Given the description of an element on the screen output the (x, y) to click on. 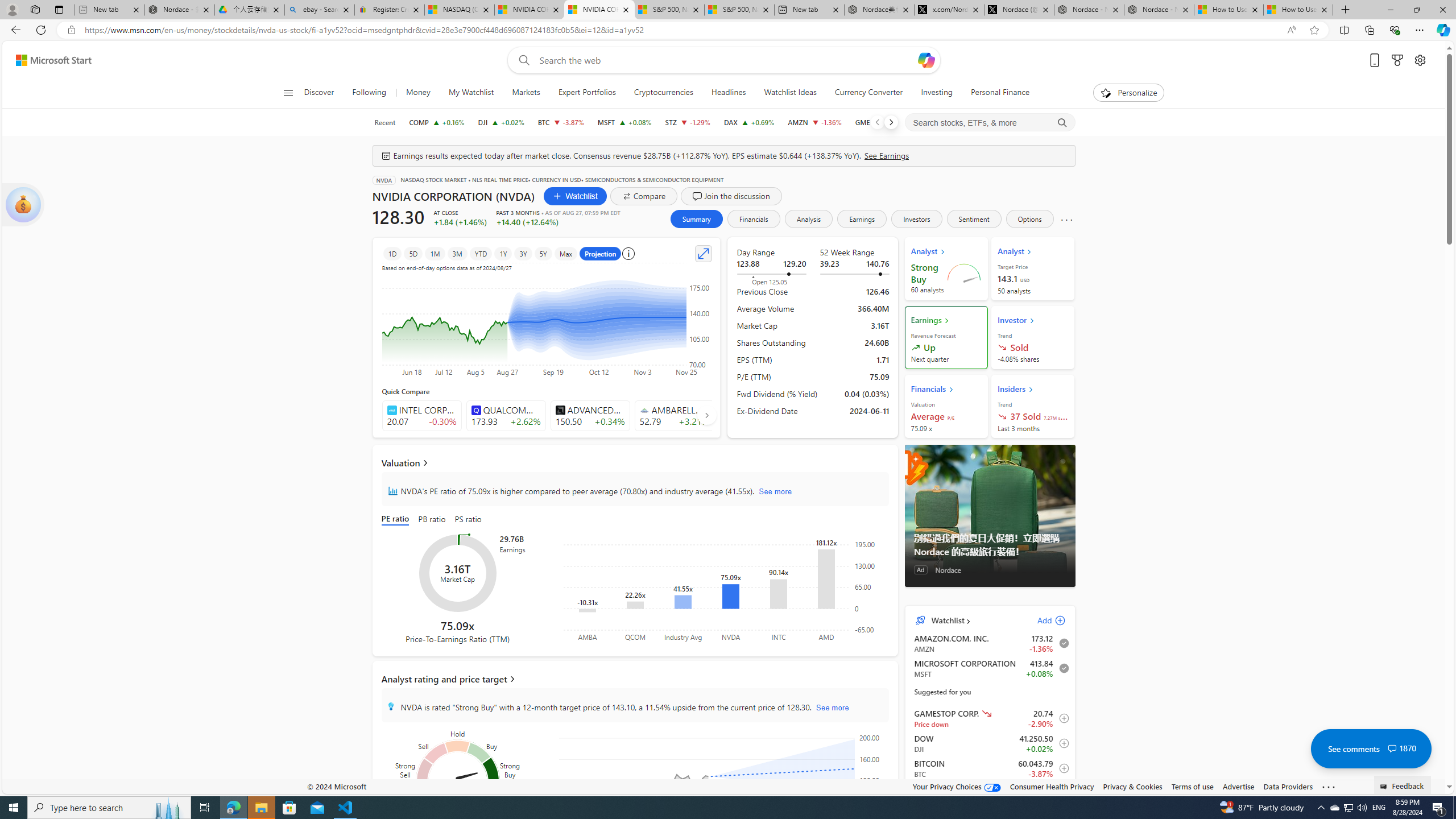
GME GAMESTOP CORP. decrease 20.74 -0.62 -2.90% (879, 122)
ETH Ethereum decrease 2,529.56 -87.30 -3.45% item3 (989, 792)
Privacy & Cookies (1131, 786)
Expert Portfolios (586, 92)
Web search (520, 60)
Sentiment (973, 218)
GME GAMESTOP CORP. decrease 20.74 -0.62 -2.90% item0 (989, 717)
